Given the description of an element on the screen output the (x, y) to click on. 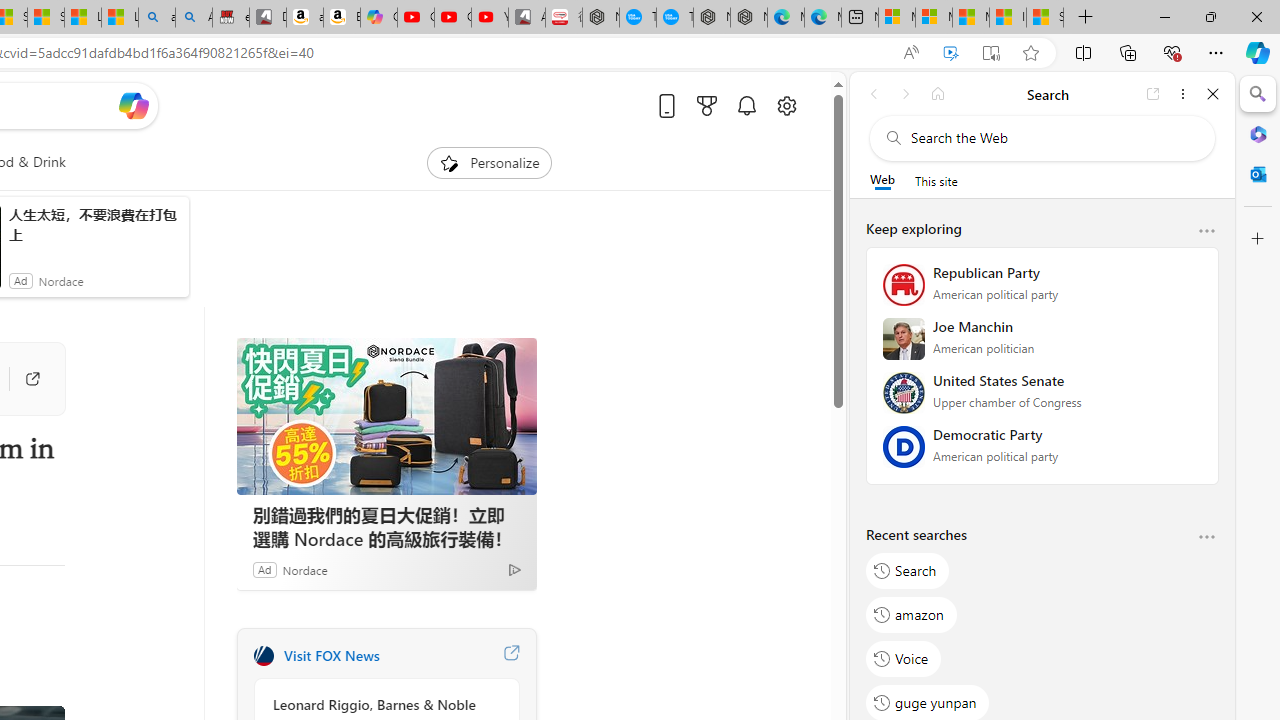
Copilot (378, 17)
Democratic Party American political party (1042, 453)
The most popular Google 'how to' searches (674, 17)
To get missing image descriptions, open the context menu. (449, 162)
amazon (911, 614)
Republican Party American political party (1042, 291)
Open settings (786, 105)
Web scope (882, 180)
Microsoft 365 (1258, 133)
